Given the description of an element on the screen output the (x, y) to click on. 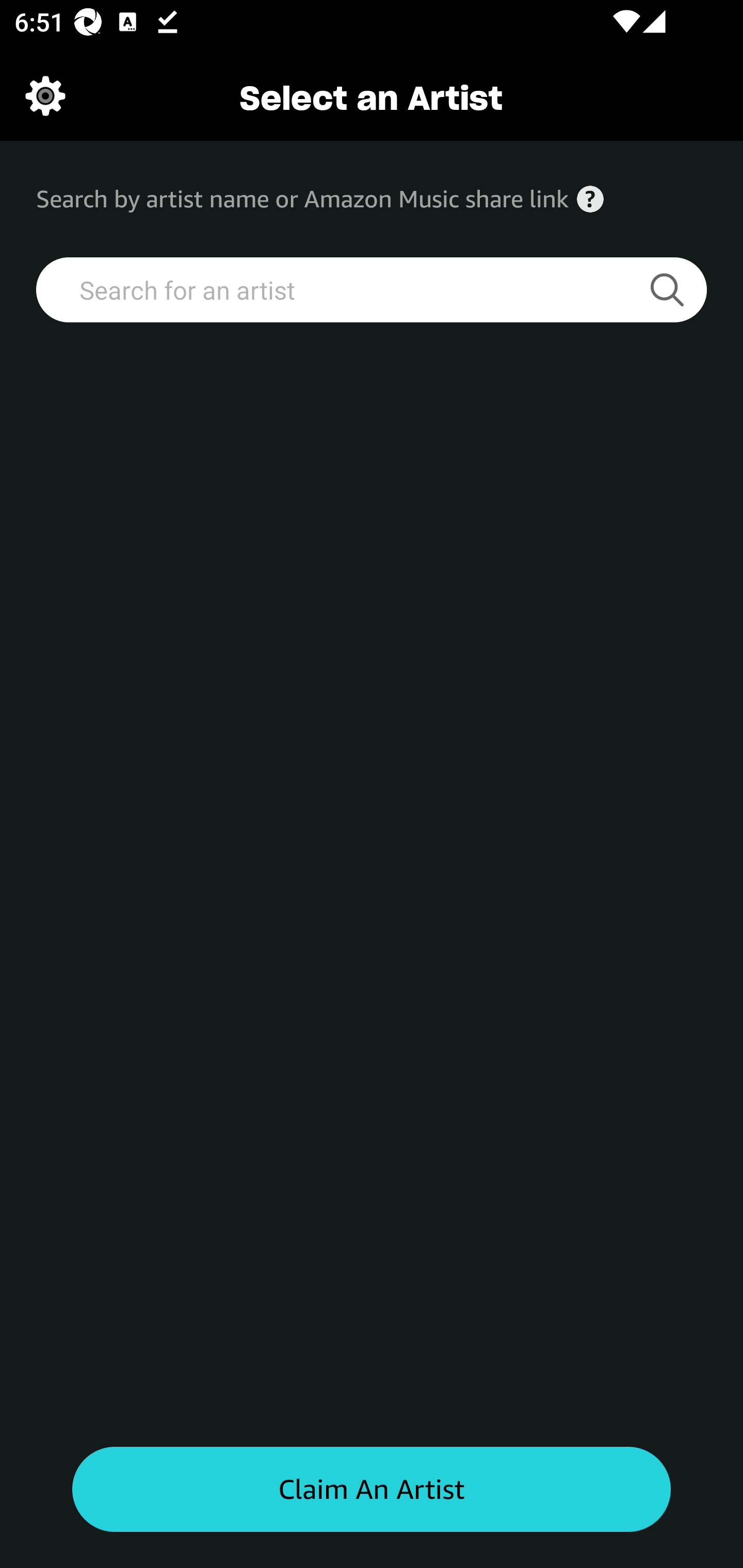
Help  icon (589, 199)
Claim an artist button Claim An Artist (371, 1489)
